Given the description of an element on the screen output the (x, y) to click on. 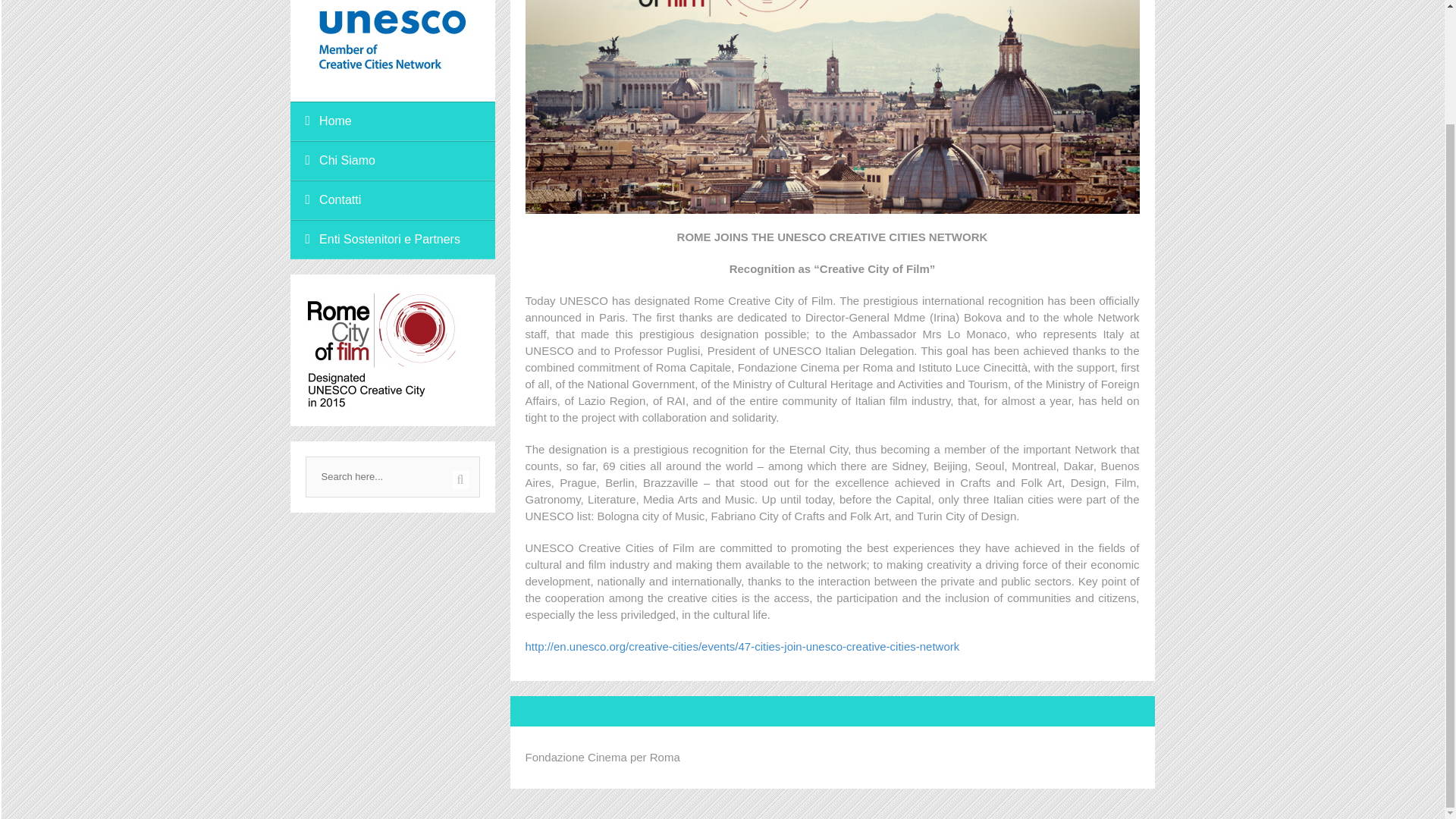
Home (392, 120)
Chi Siamo (392, 160)
Contatti (392, 200)
Home (392, 120)
Enti Sostenitori e Partners (392, 239)
Chi Siamo (392, 160)
Contatti (392, 200)
Enti Sostenitori e Partners (392, 239)
